Given the description of an element on the screen output the (x, y) to click on. 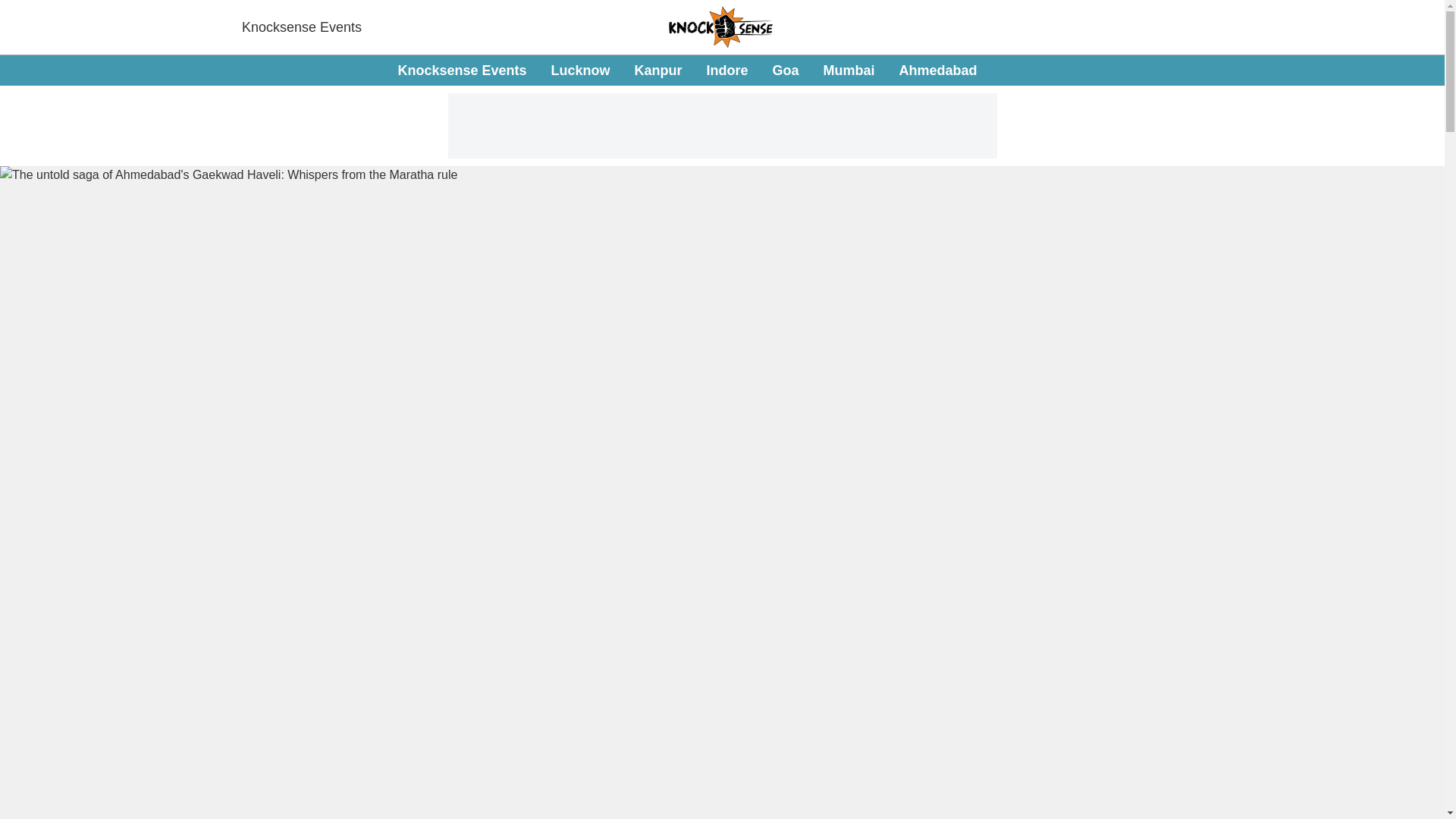
Knocksense Events (301, 27)
Indore (727, 70)
Dark Mode (1415, 70)
Goa (786, 70)
Ahmedabad (937, 70)
Mumbai (849, 70)
Knocksense Events (461, 70)
Lucknow (580, 70)
Kanpur (686, 70)
